Given the description of an element on the screen output the (x, y) to click on. 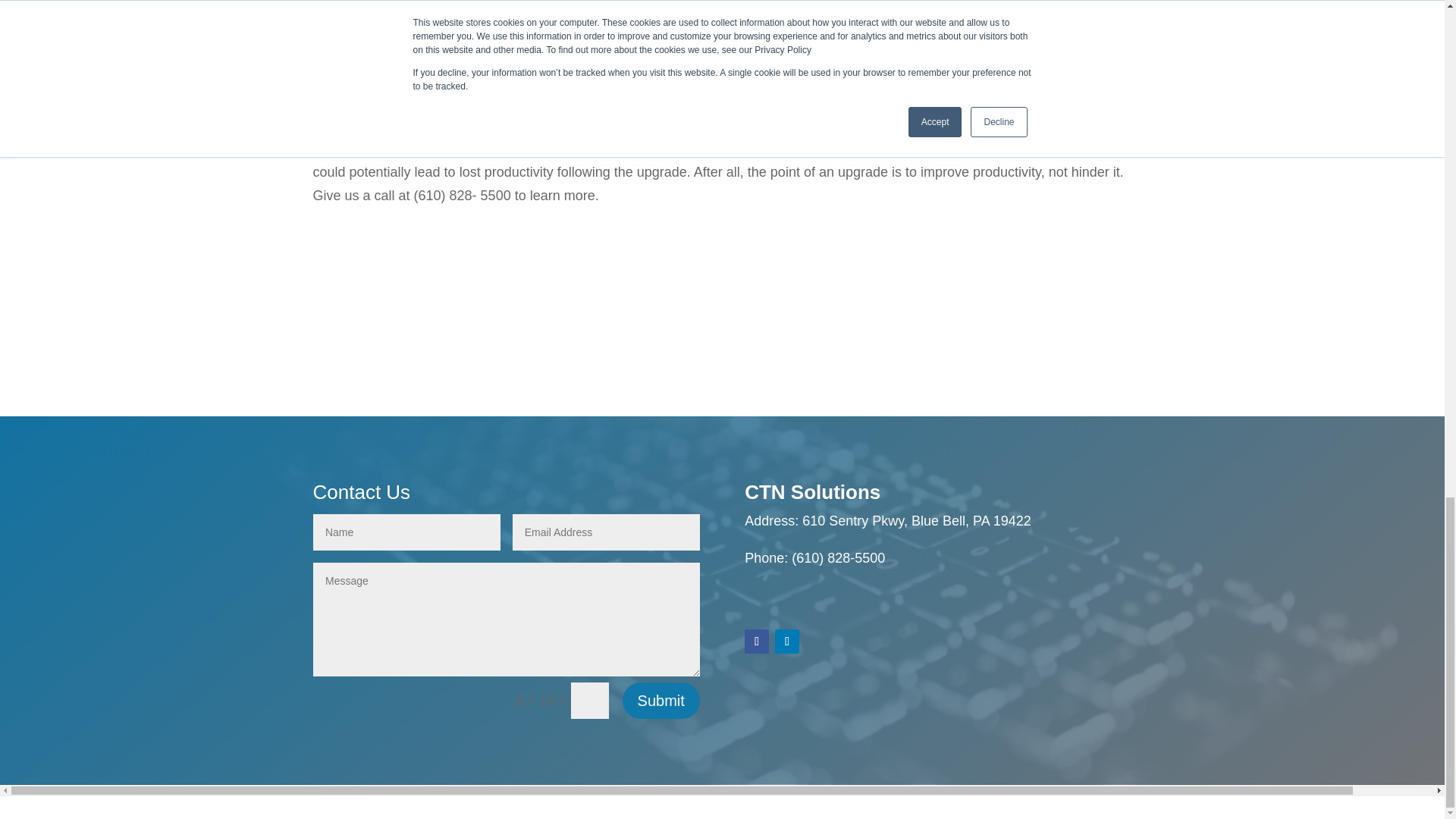
Follow on LinkedIn (786, 641)
Follow on Facebook (756, 641)
